Given the description of an element on the screen output the (x, y) to click on. 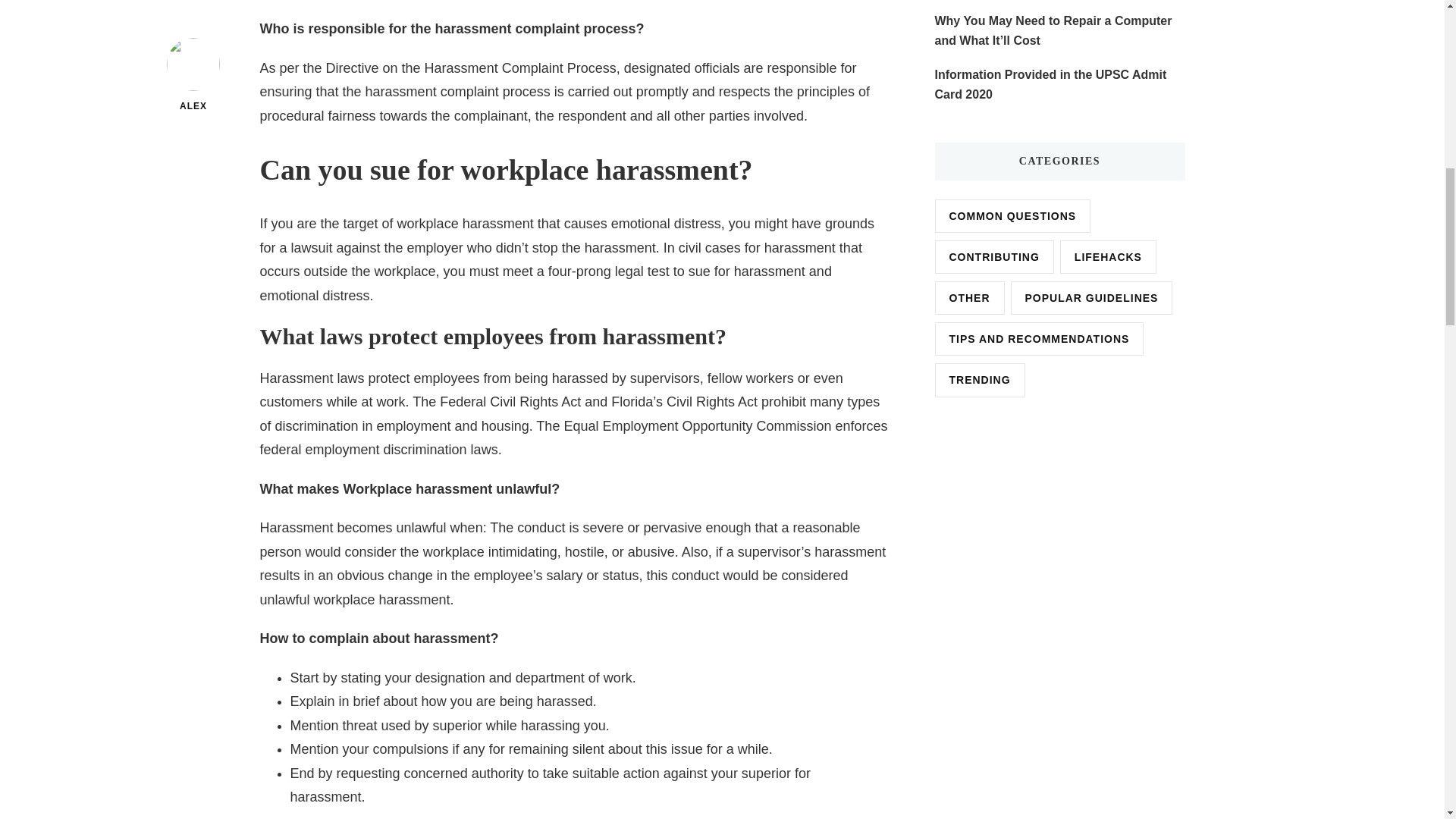
LIFEHACKS (1107, 256)
CONTRIBUTING (993, 256)
COMMON QUESTIONS (1012, 215)
Information Provided in the UPSC Admit Card 2020 (1059, 84)
OTHER (969, 297)
